Given the description of an element on the screen output the (x, y) to click on. 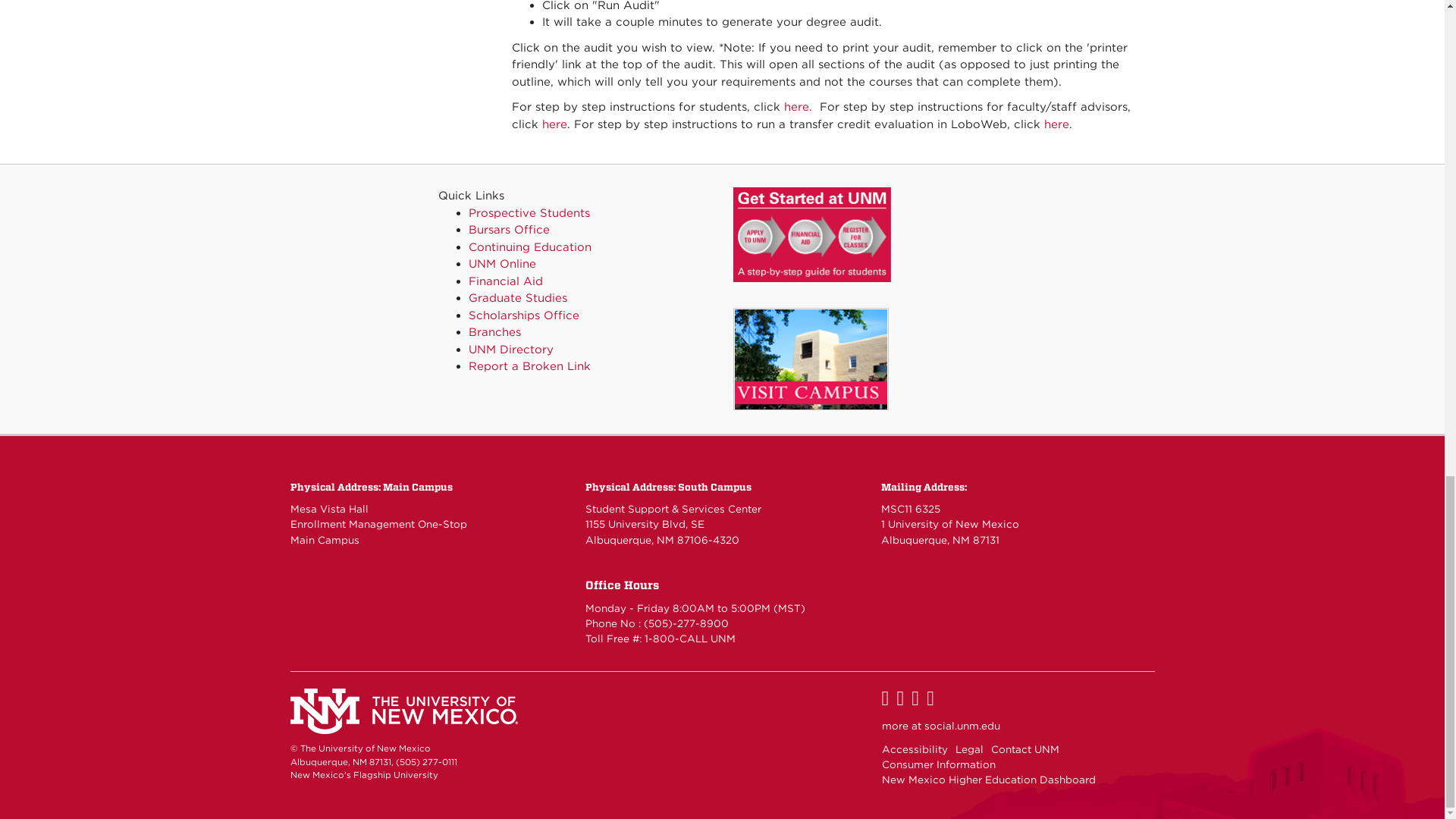
Lobotrax-transfer (1055, 124)
here (554, 124)
Lobotrax-staff-faculty (554, 124)
here (1055, 124)
Lobotrax-Student (798, 106)
here. (798, 106)
